Given the description of an element on the screen output the (x, y) to click on. 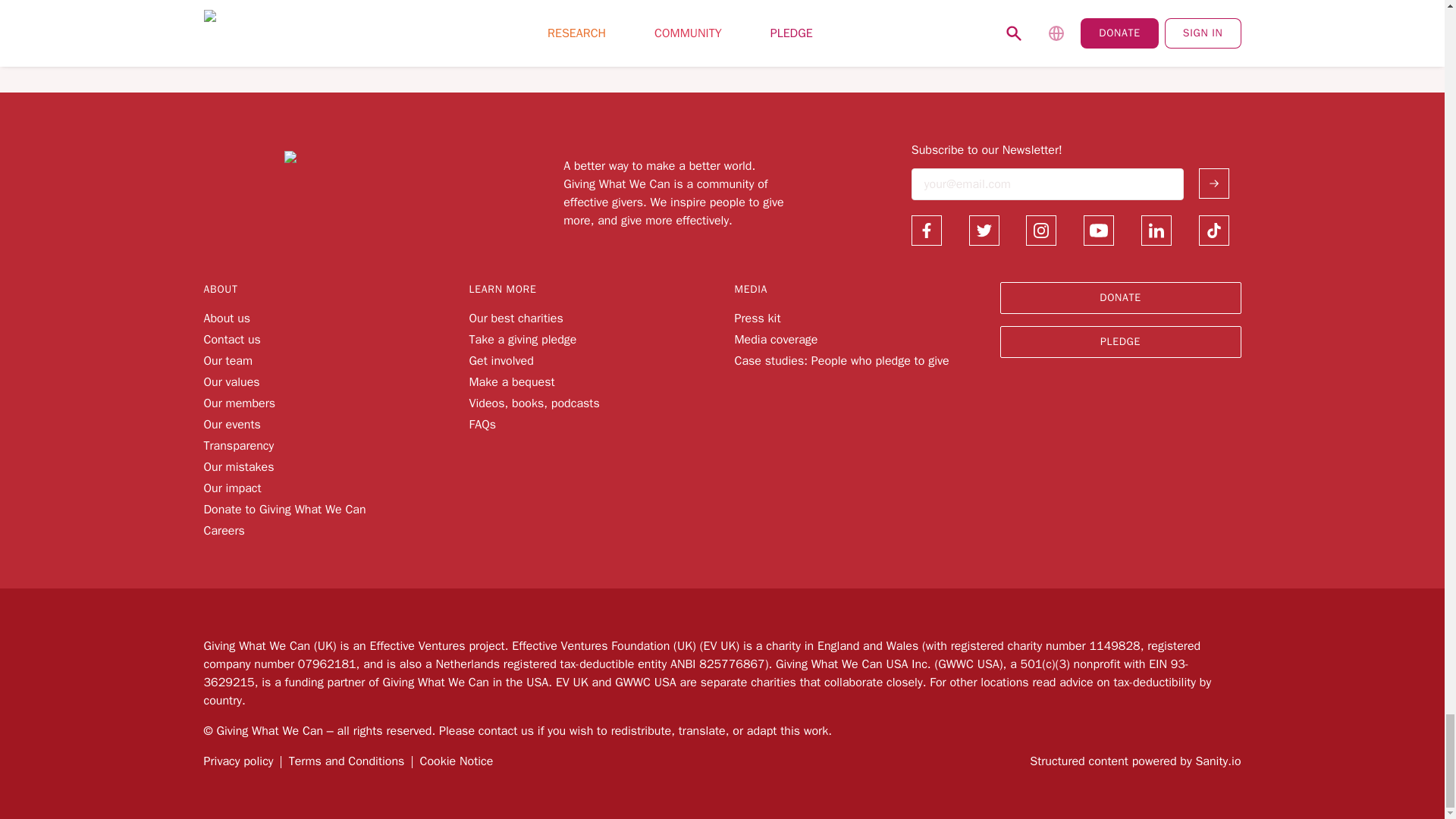
Submit (1213, 183)
